Given the description of an element on the screen output the (x, y) to click on. 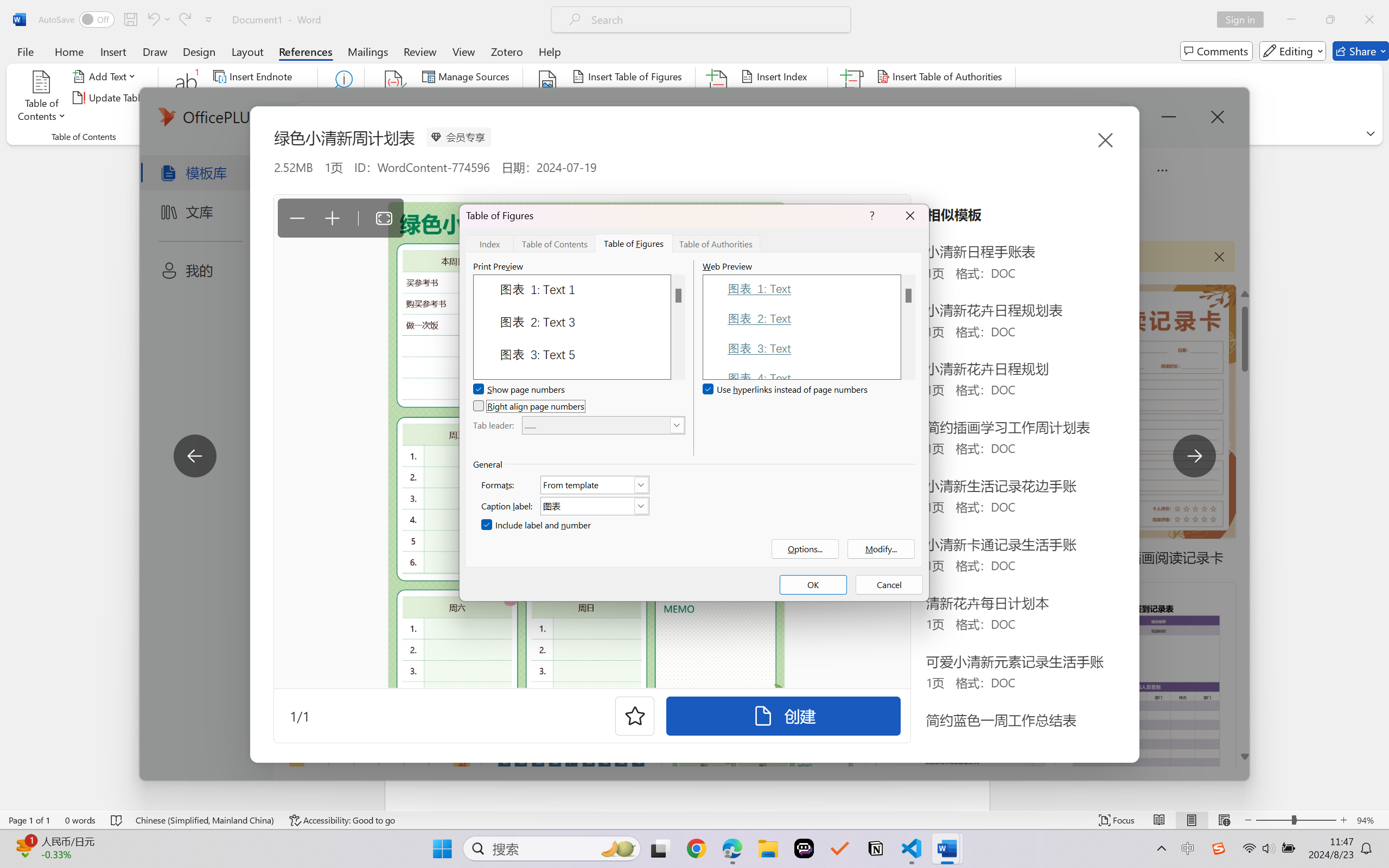
Insert Endnote (253, 75)
Options... (804, 548)
Footnote and Endnote Dialog... (311, 136)
Add Text (106, 75)
Table of Contents (42, 97)
OK (813, 584)
Update Table... (110, 97)
Cancel (889, 584)
